Given the description of an element on the screen output the (x, y) to click on. 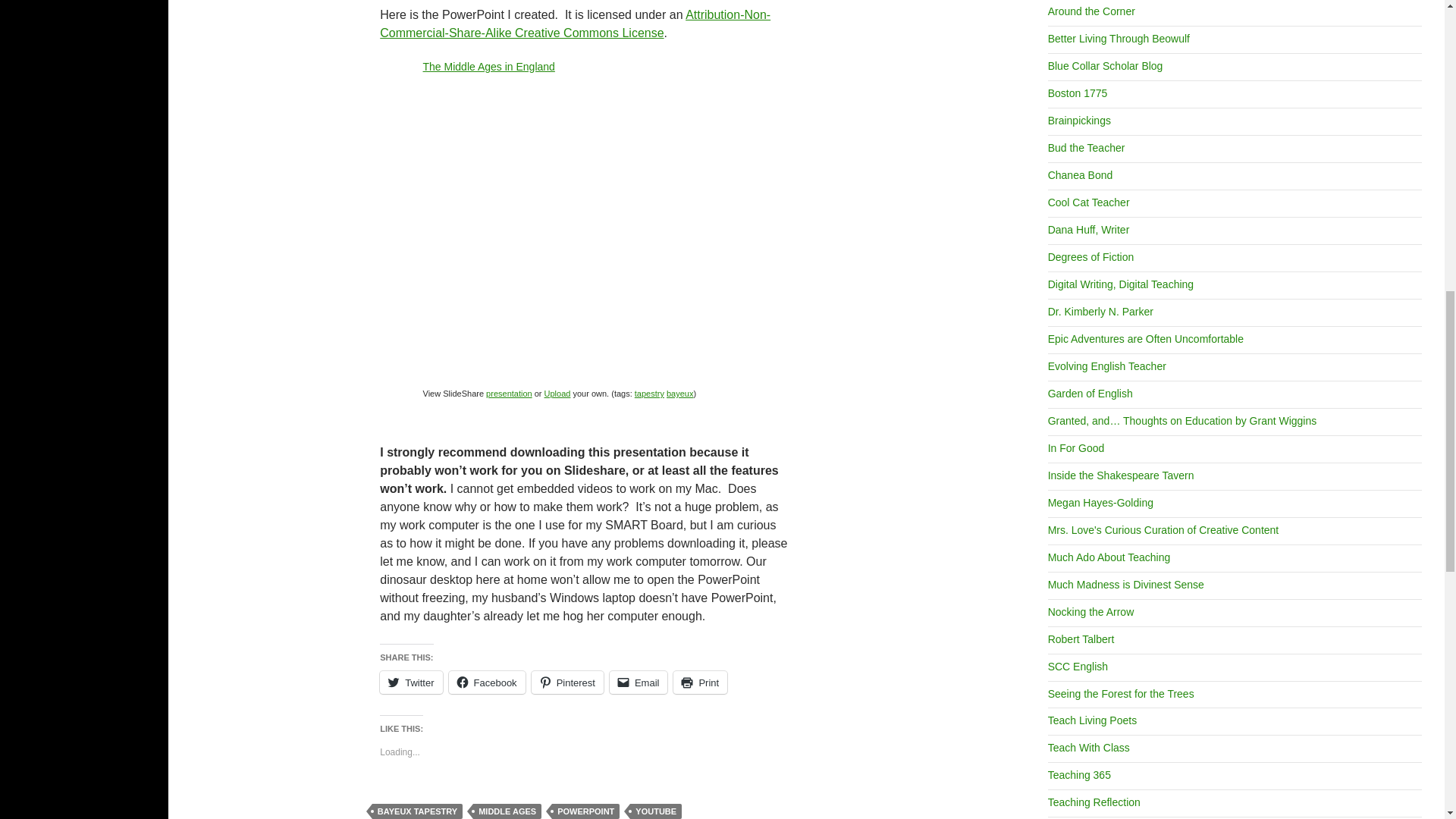
My Book Blog (1126, 584)
Upload (557, 393)
Click to print (699, 681)
Twitter (411, 681)
Click to share on Pinterest (567, 681)
presentation (509, 393)
View The Middle Ages in England on SlideShare (509, 393)
Print (699, 681)
Pinterest (567, 681)
tapestry (648, 393)
